Given the description of an element on the screen output the (x, y) to click on. 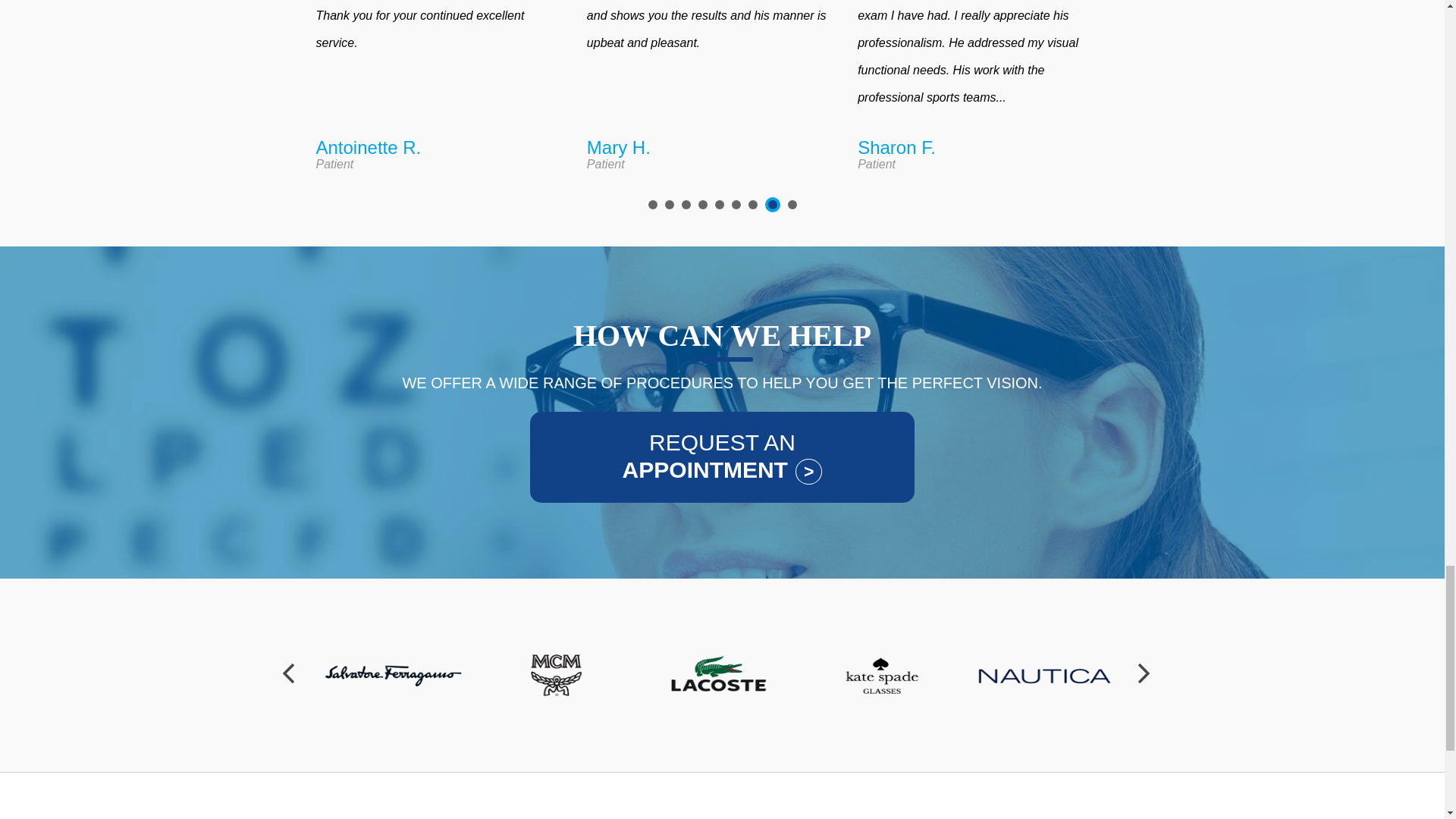
twitter (1172, 809)
facebook (1165, 809)
linkedin (1179, 809)
Northern Virginia Doctors of Optometry (104, 799)
